Given the description of an element on the screen output the (x, y) to click on. 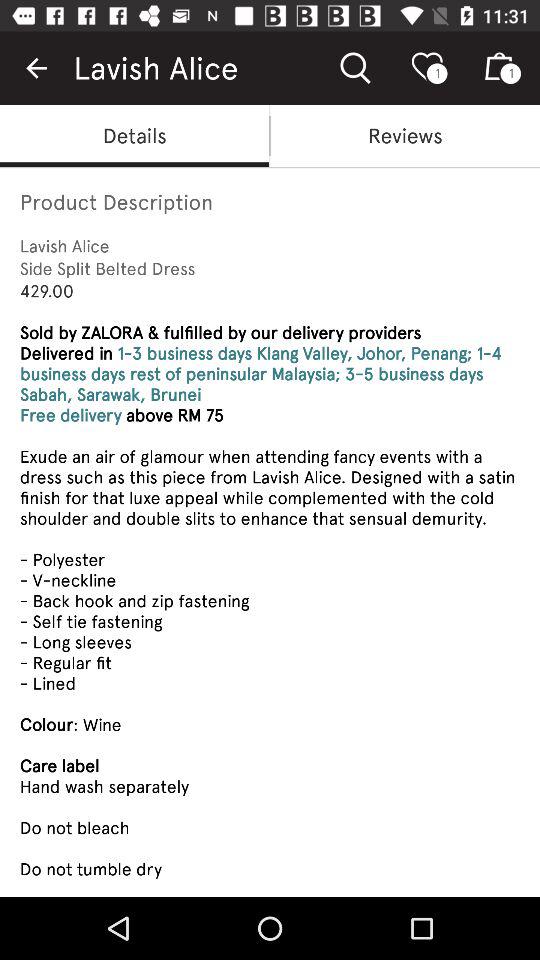
tap item below the lavish alice icon (405, 135)
